Given the description of an element on the screen output the (x, y) to click on. 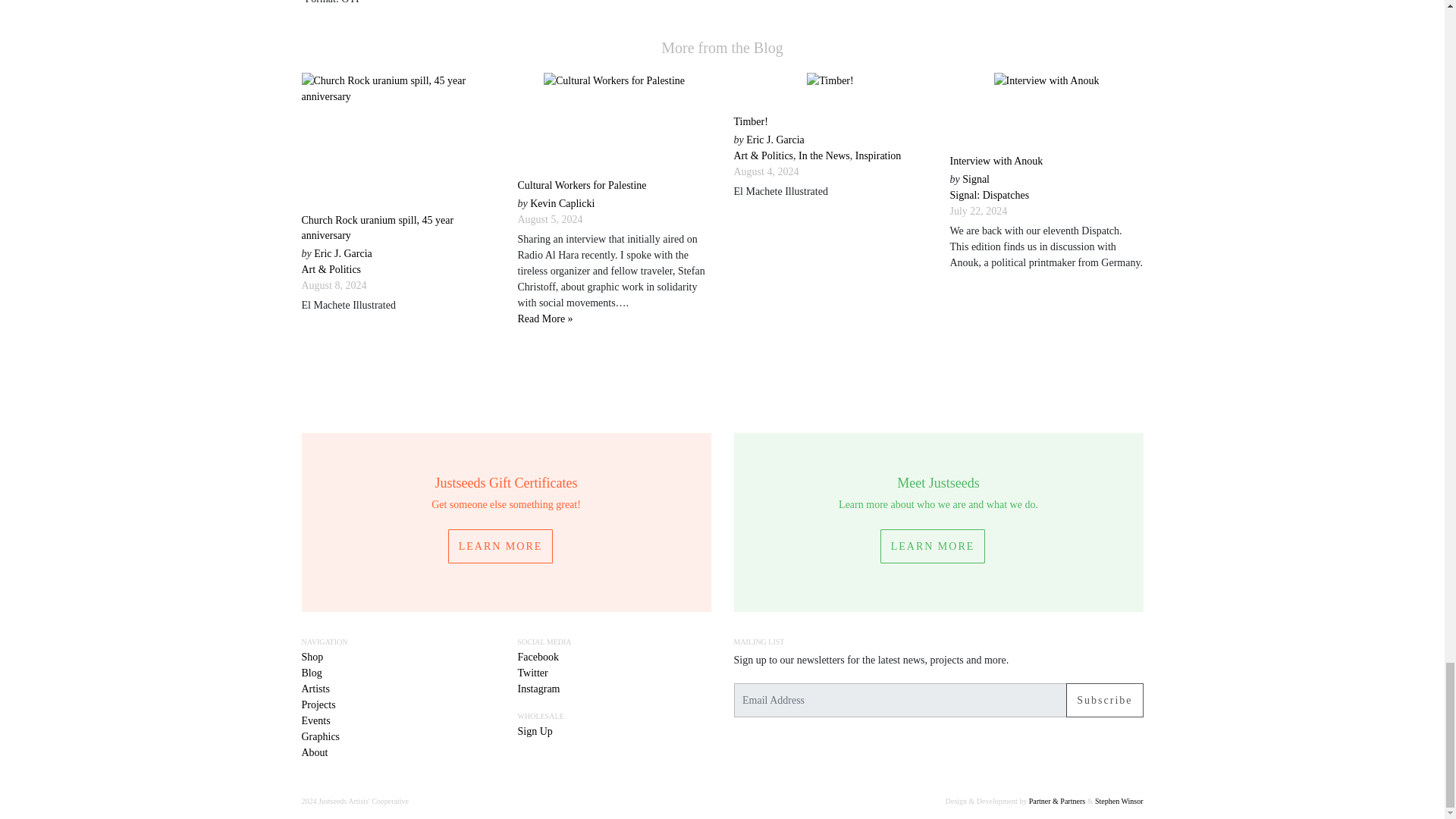
Church Rock uranium spill, 45 year anniversary (377, 227)
Subscribe (1103, 700)
Eric J. Garcia (343, 253)
